Given the description of an element on the screen output the (x, y) to click on. 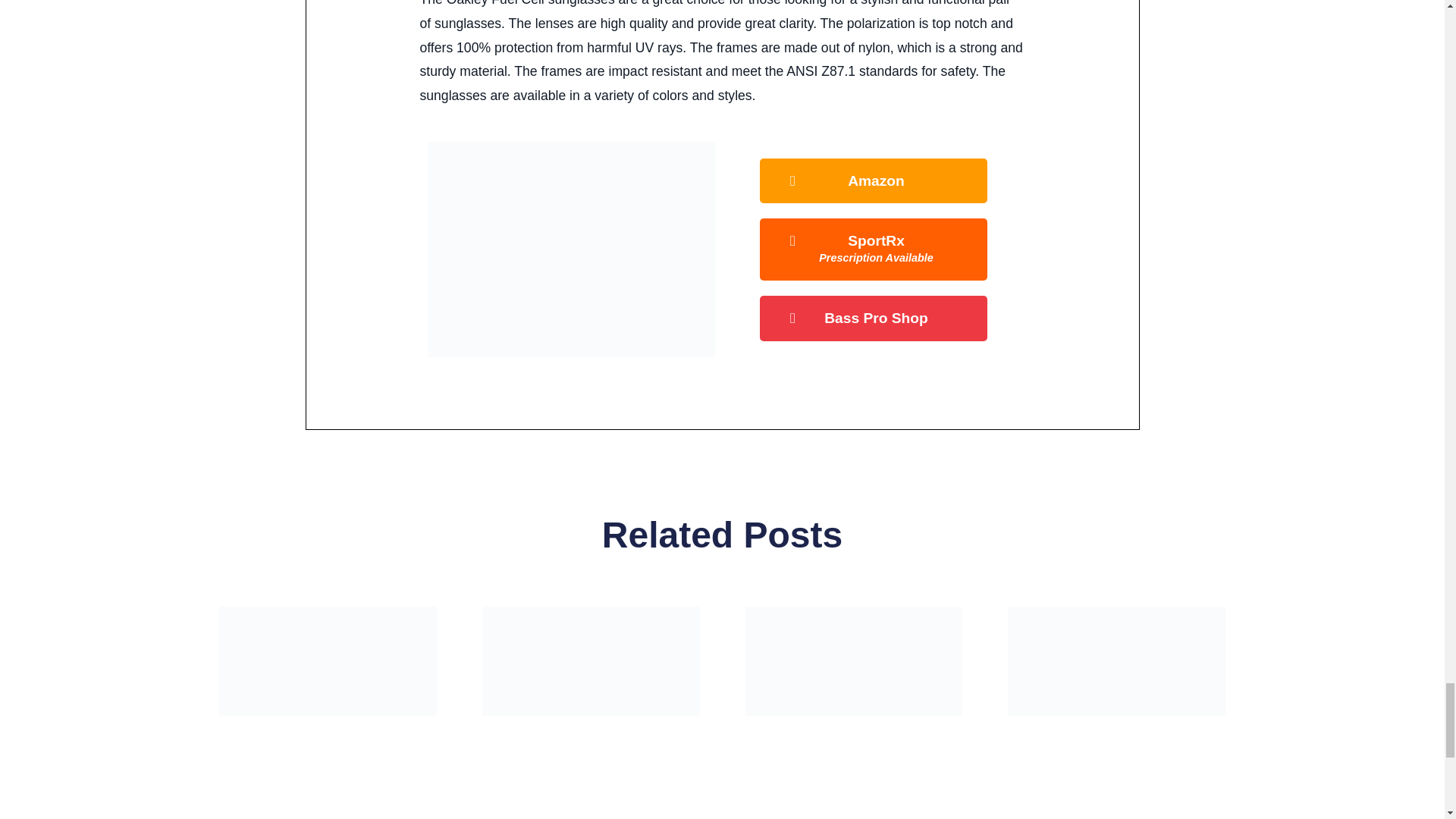
Bass Pro Shop (873, 249)
Amazon (873, 317)
